Given the description of an element on the screen output the (x, y) to click on. 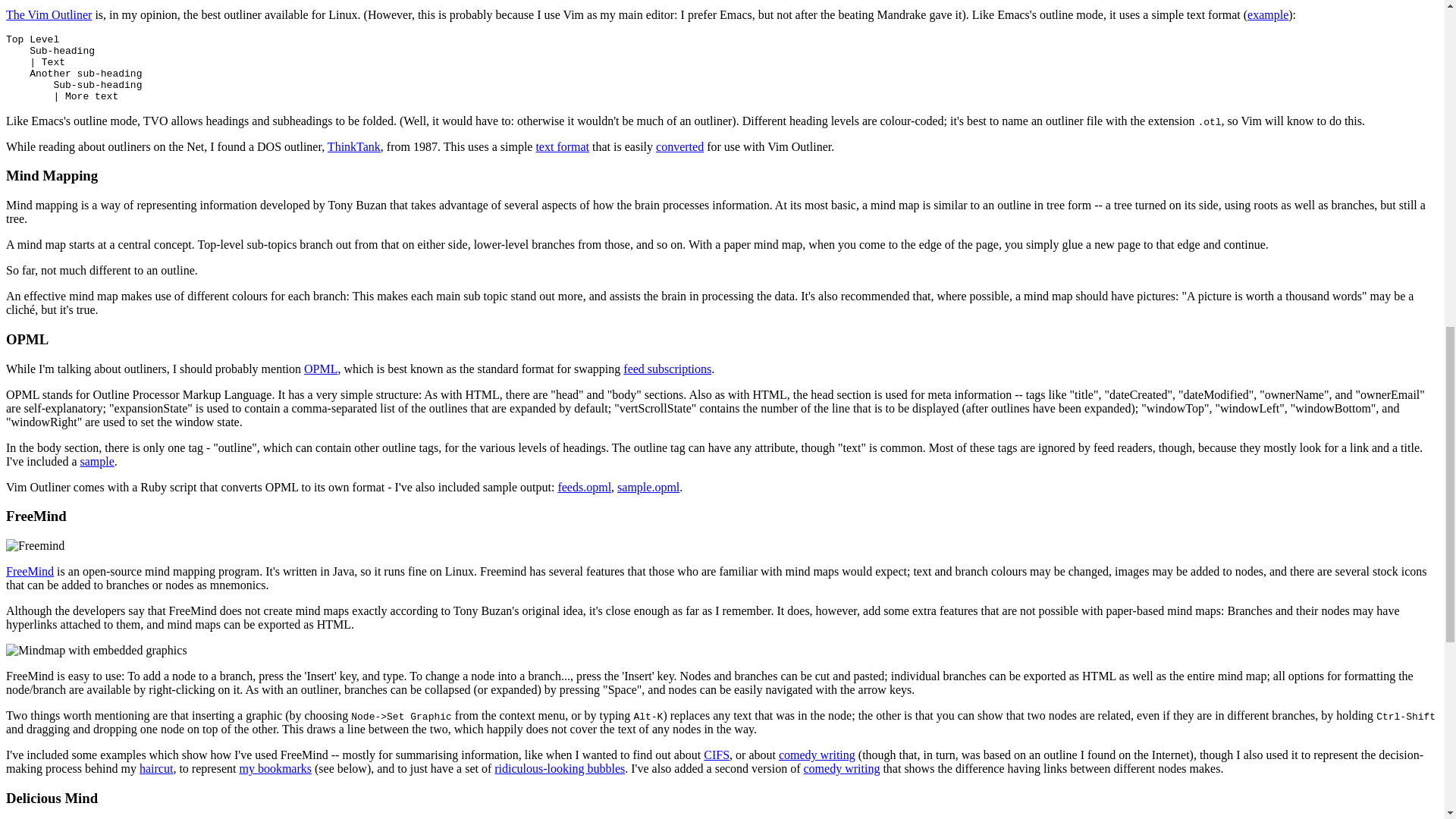
my bookmarks (274, 768)
ridiculous-looking bubbles (559, 768)
CIFS (716, 754)
FreeMind (29, 571)
comedy writing (817, 754)
example (1267, 14)
feeds.opml (584, 486)
ThinkTank (353, 146)
The Vim Outliner (48, 14)
sample.opml (648, 486)
